Given the description of an element on the screen output the (x, y) to click on. 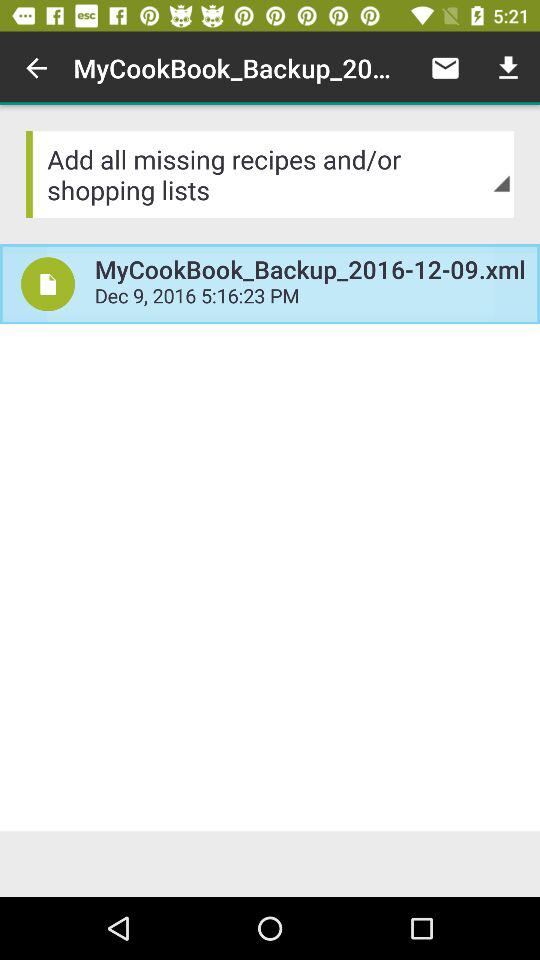
choose item next to the mycookbook_backup_2016 12 09 icon (36, 67)
